Given the description of an element on the screen output the (x, y) to click on. 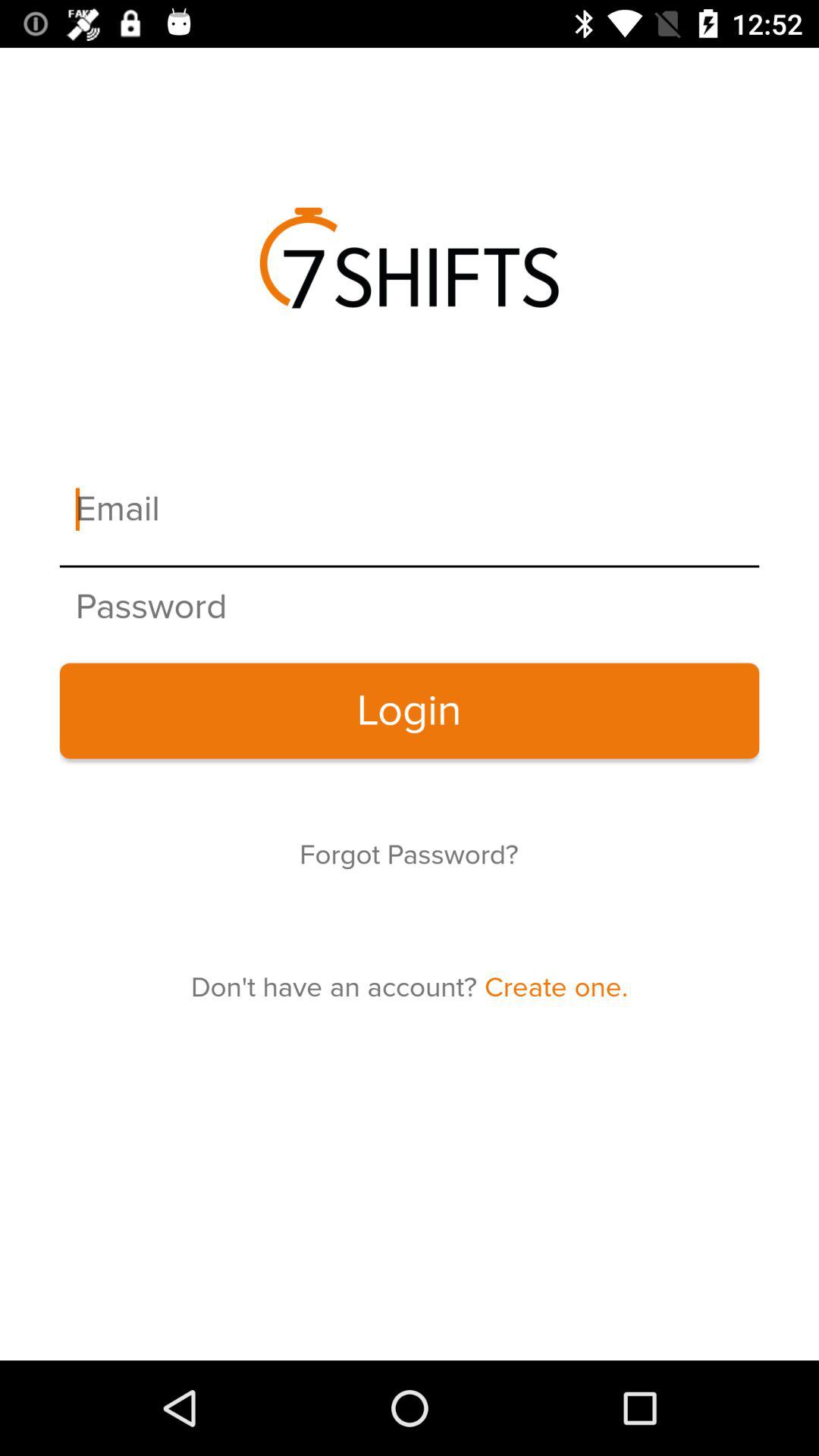
enter your email address (409, 509)
